Given the description of an element on the screen output the (x, y) to click on. 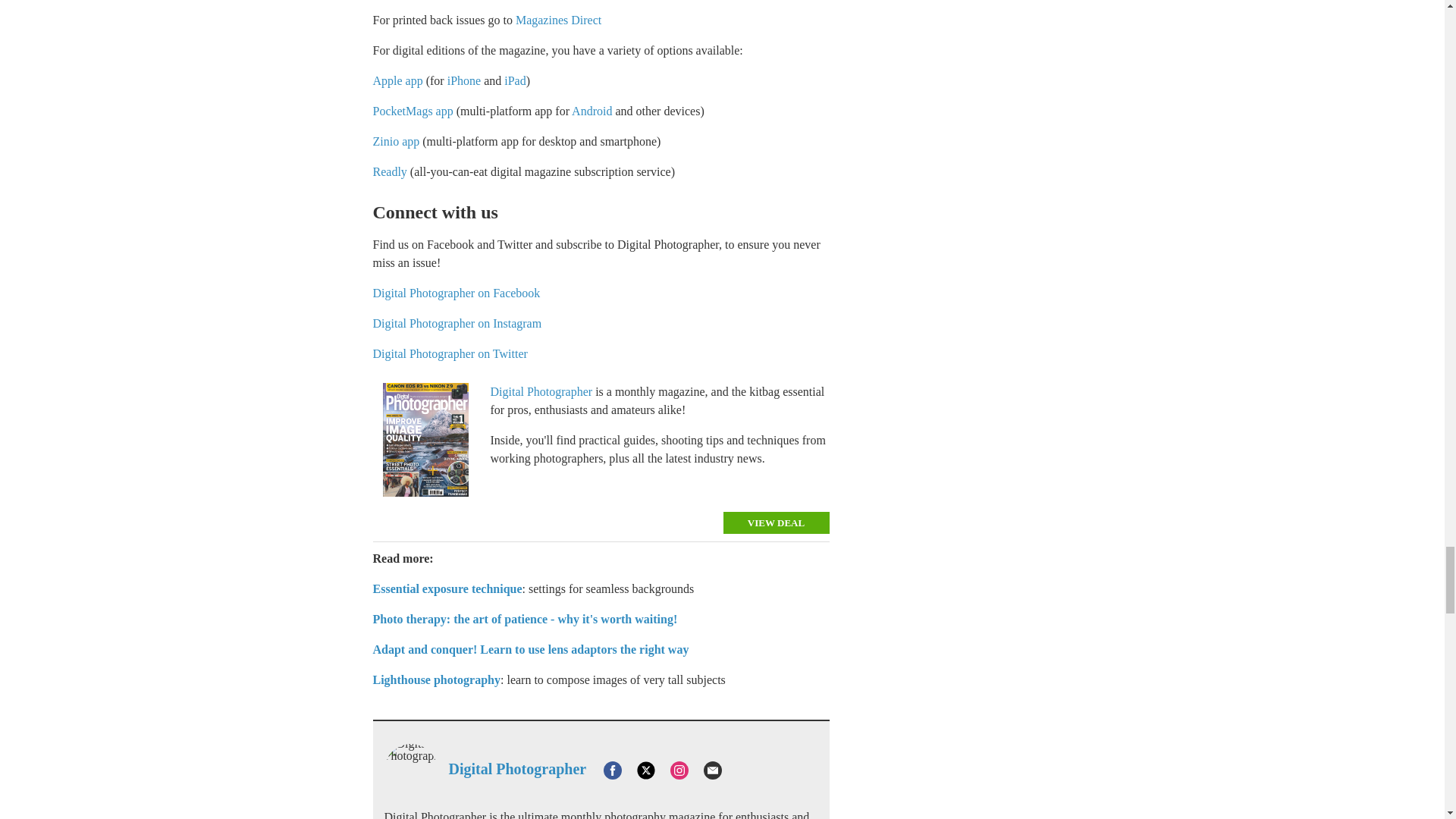
Image (425, 439)
